Given the description of an element on the screen output the (x, y) to click on. 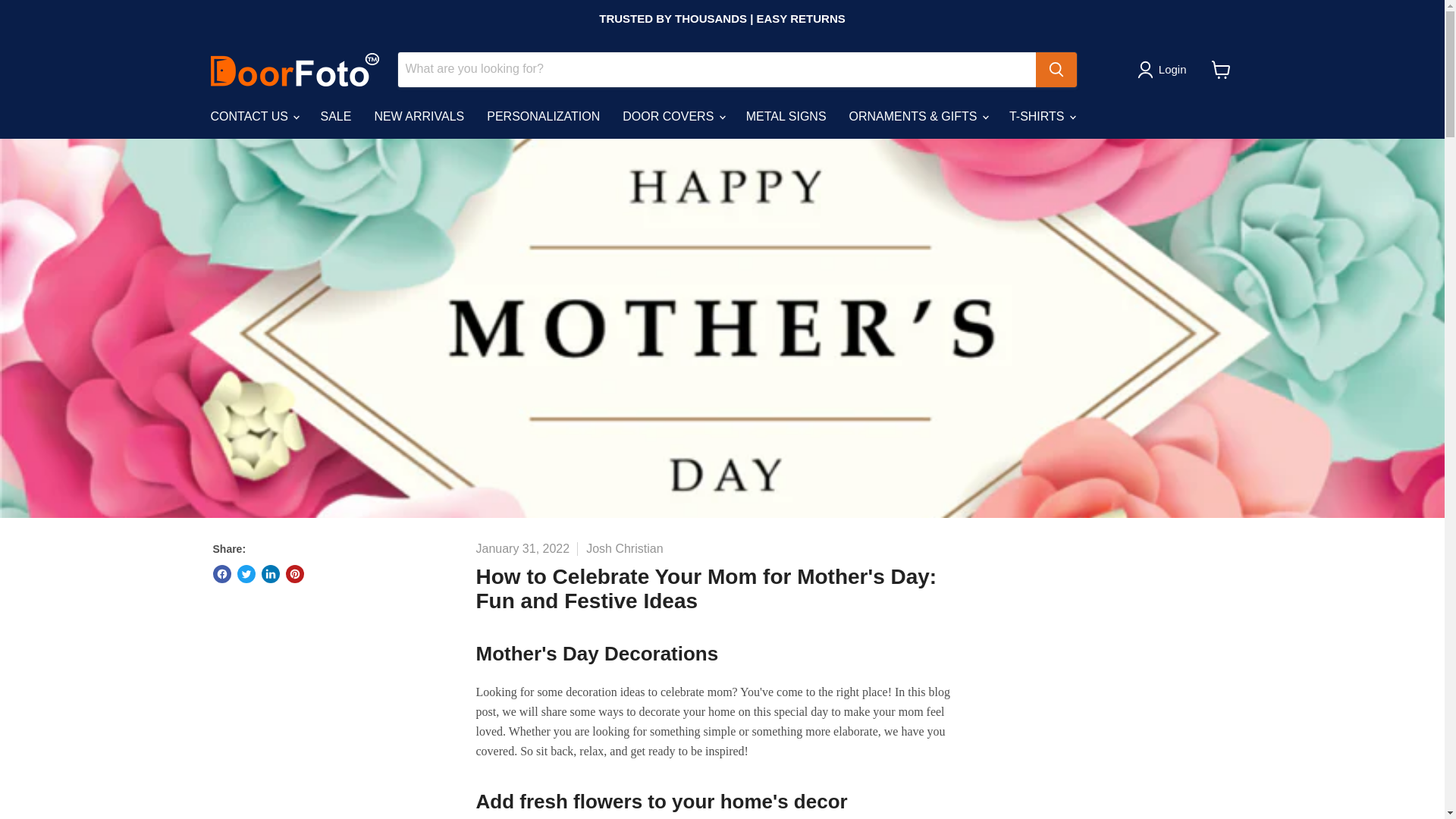
PERSONALIZATION (543, 115)
NEW ARRIVALS (419, 115)
SALE (335, 115)
View cart (1221, 69)
Login (1172, 69)
